Given the description of an element on the screen output the (x, y) to click on. 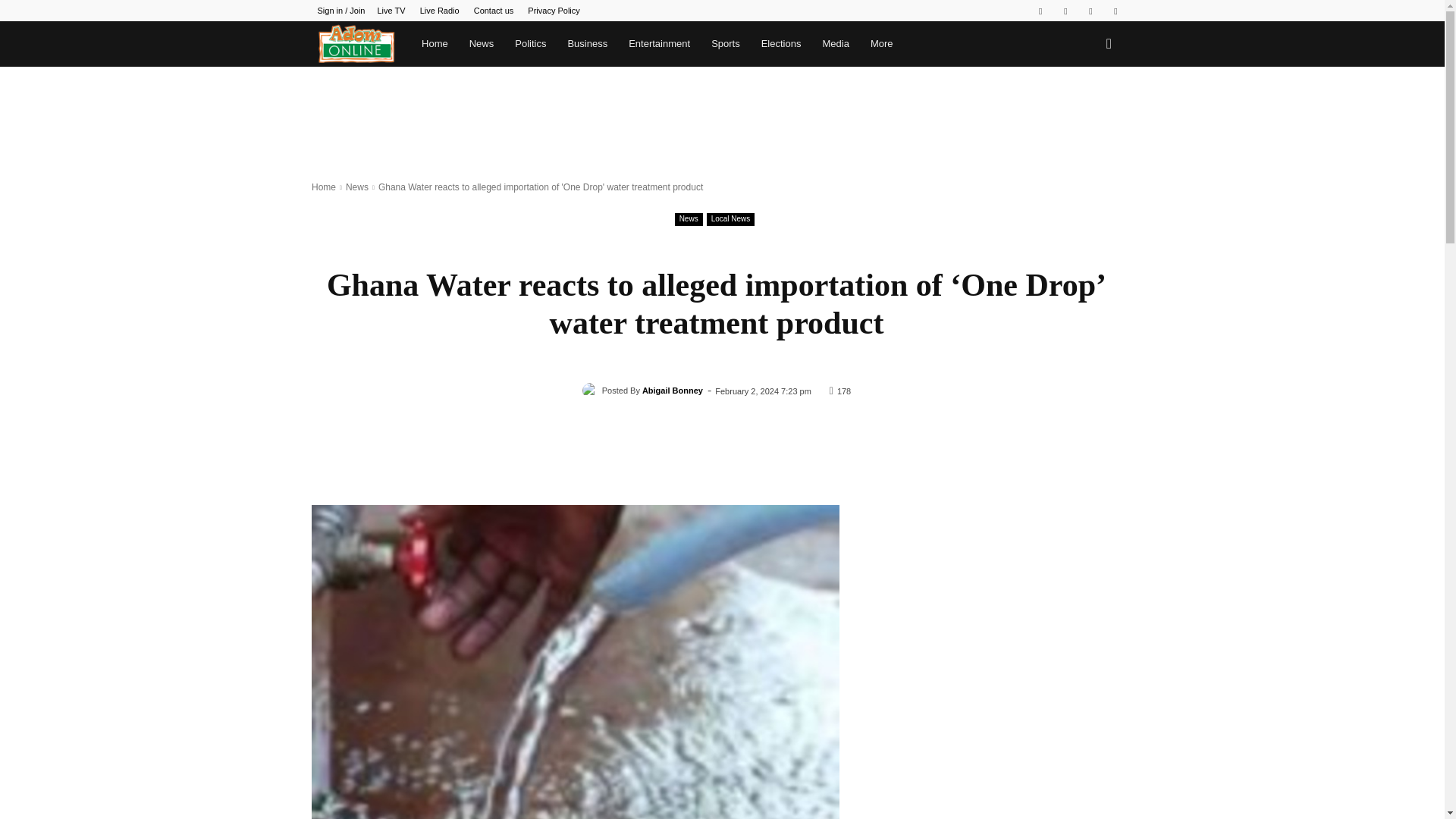
Adomonline Logo (356, 44)
Abigail Bonney (592, 390)
Live TV (390, 10)
Contact us (493, 10)
Live Radio (440, 10)
Privacy Policy (553, 10)
Facebook (1040, 10)
Twitter (1090, 10)
Linkedin (1065, 10)
Youtube (1114, 10)
